Given the description of an element on the screen output the (x, y) to click on. 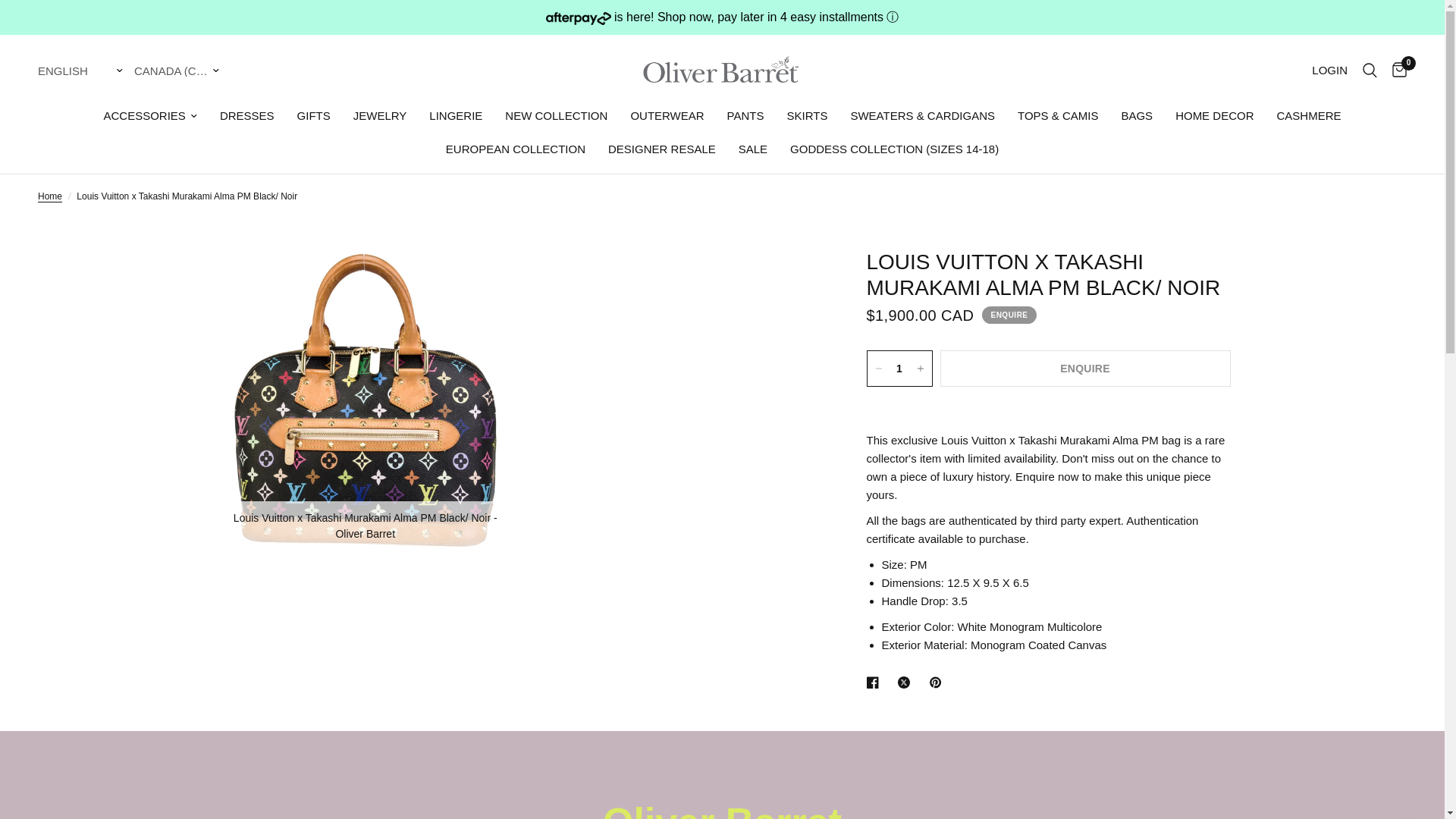
1 (898, 368)
